Given the description of an element on the screen output the (x, y) to click on. 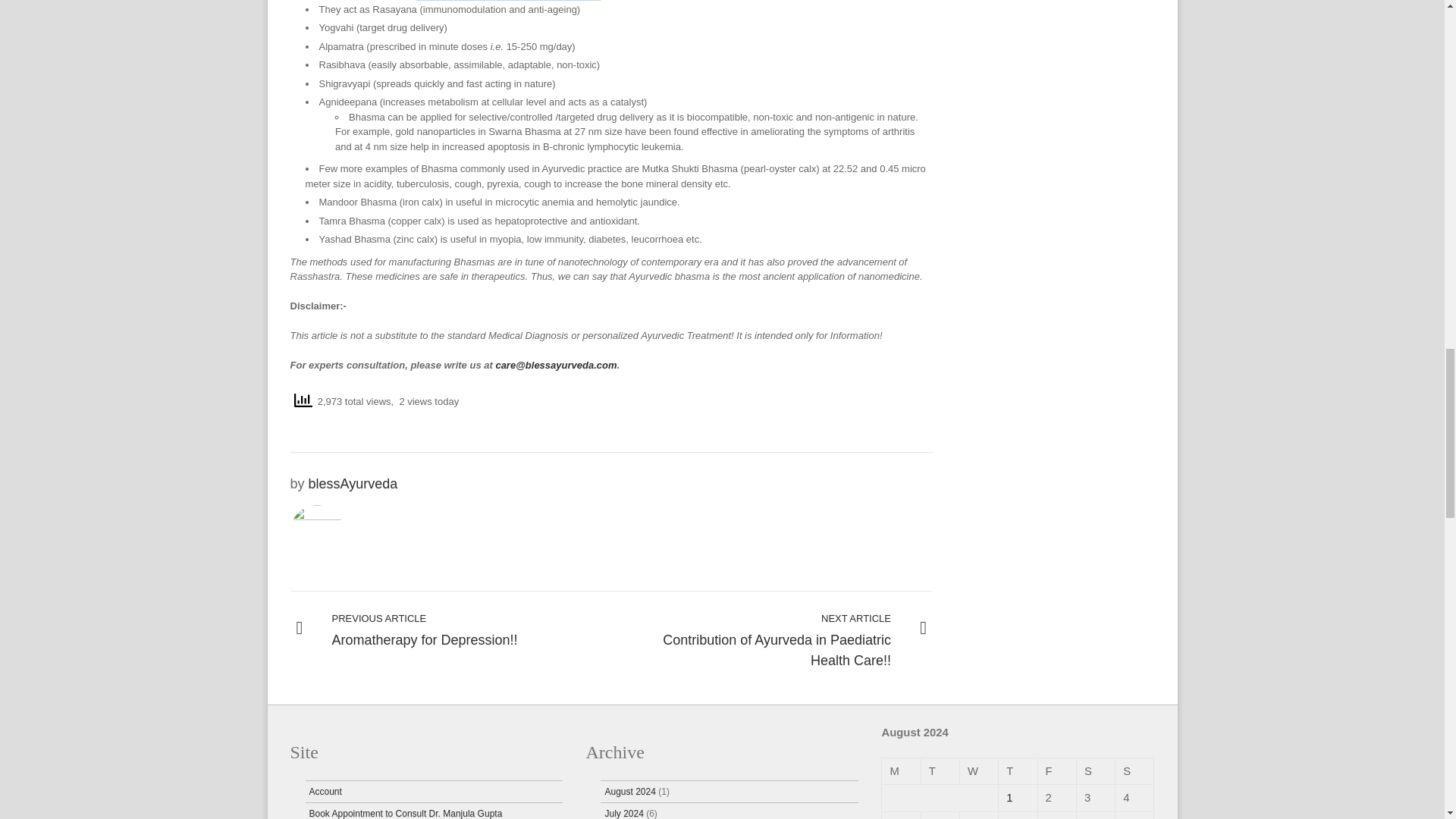
Posts by blessAyurveda (352, 483)
August 2024 (450, 630)
Account (629, 791)
Book Appointment to Consult Dr. Manjula Gupta (325, 791)
blessAyurveda (405, 813)
July 2024 (352, 483)
